Given the description of an element on the screen output the (x, y) to click on. 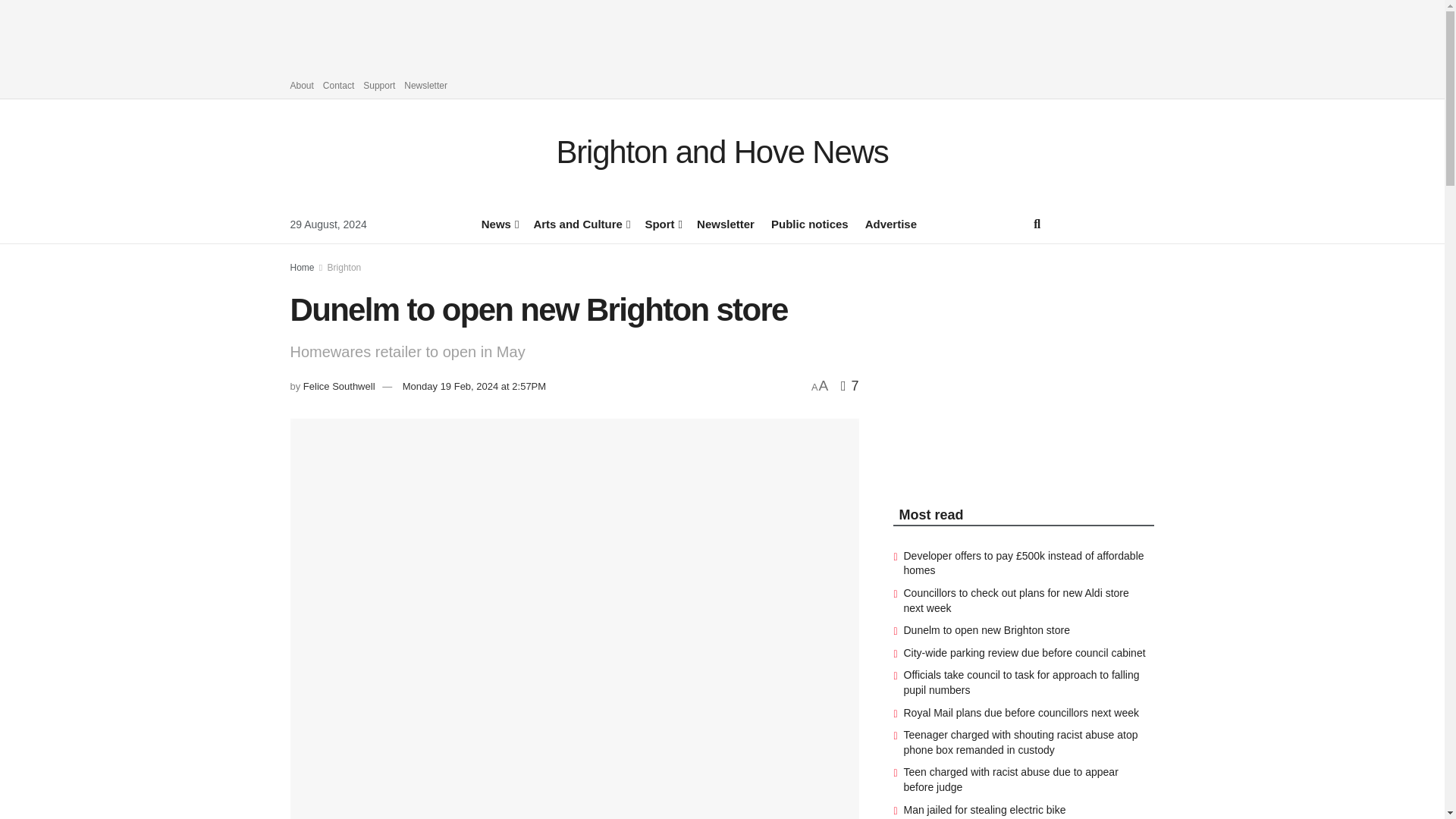
News (498, 223)
Arts and Culture (579, 223)
Newsletter (725, 223)
Advertisement (988, 361)
Newsletter (425, 85)
Advertise (890, 223)
Public notices (809, 223)
Sport (662, 223)
Support (378, 85)
Advertisement (722, 33)
